Given the description of an element on the screen output the (x, y) to click on. 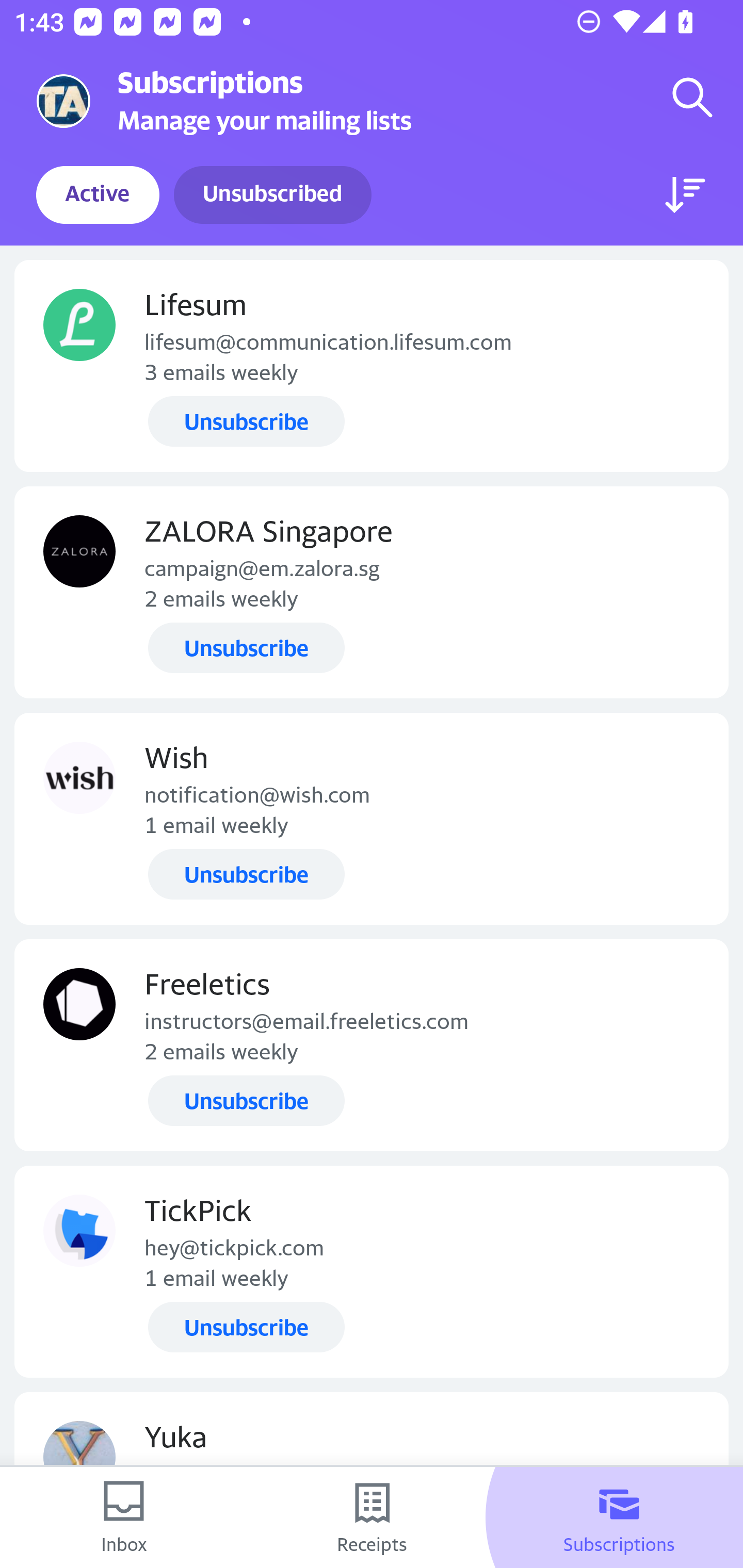
Search mail (692, 97)
Unsubscribed (272, 195)
Sort (684, 195)
Unsubscribe (245, 421)
Unsubscribe (245, 647)
Unsubscribe (245, 874)
Unsubscribe (245, 1100)
Unsubscribe (245, 1326)
Inbox (123, 1517)
Receipts (371, 1517)
Subscriptions (619, 1517)
